Given the description of an element on the screen output the (x, y) to click on. 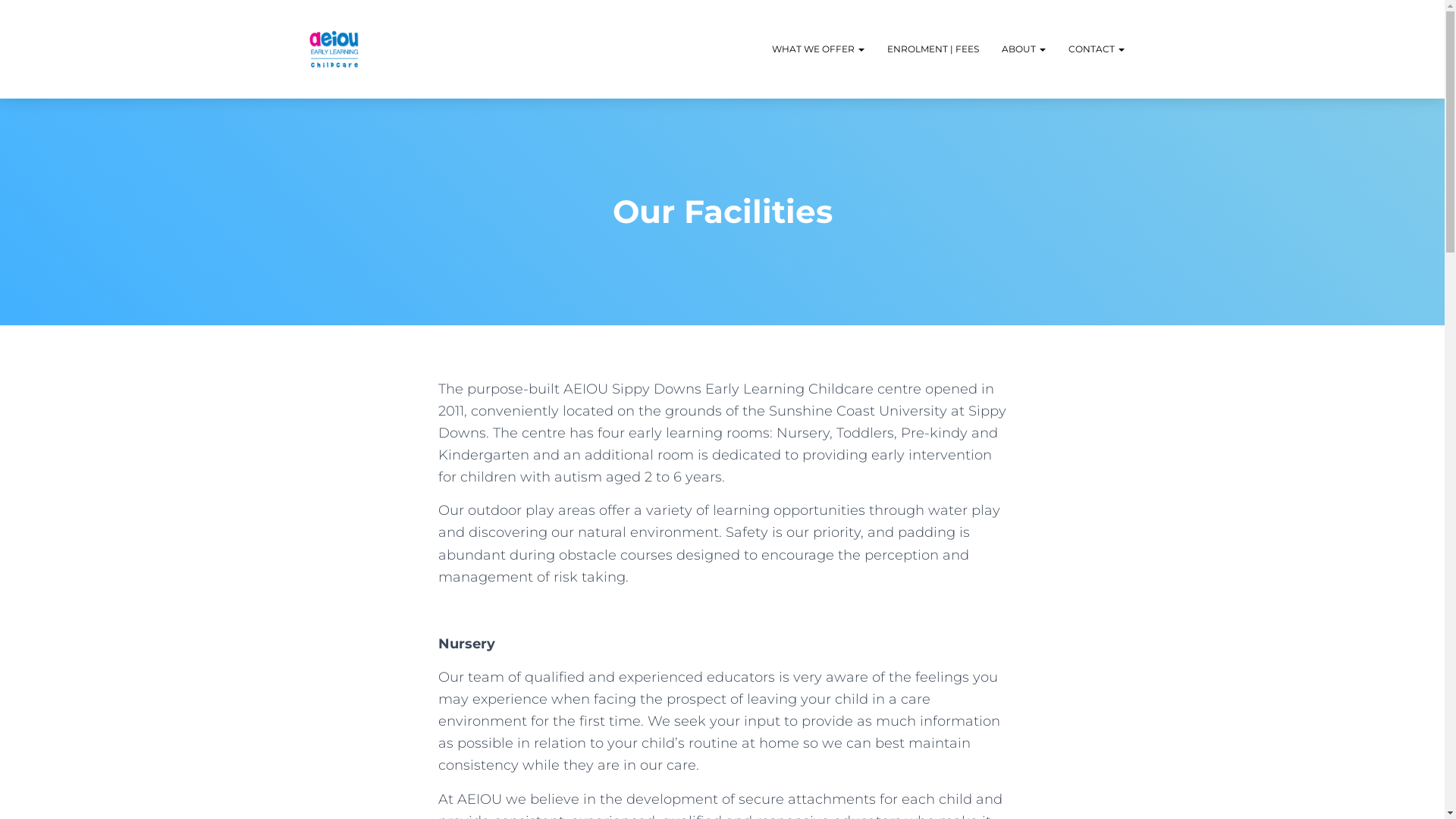
ABOUT Element type: text (1023, 49)
CONTACT Element type: text (1096, 49)
AEIOU Early Learning Childcare | Sippy Downs Element type: hover (333, 49)
WHAT WE OFFER Element type: text (817, 49)
ENROLMENT | FEES Element type: text (932, 49)
